Given the description of an element on the screen output the (x, y) to click on. 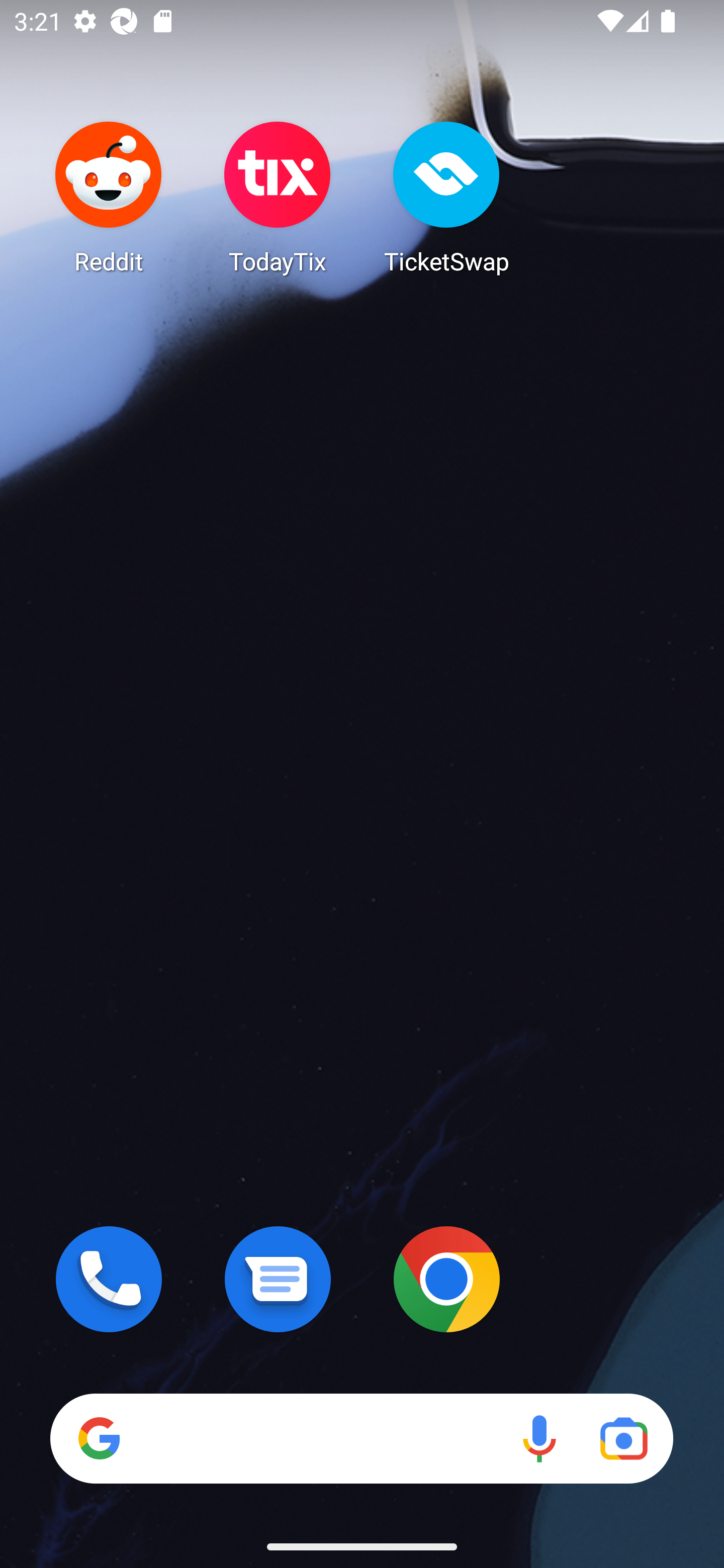
Reddit (108, 196)
TodayTix (277, 196)
TicketSwap (445, 196)
Phone (108, 1279)
Messages (277, 1279)
Chrome (446, 1279)
Voice search (539, 1438)
Google Lens (623, 1438)
